Given the description of an element on the screen output the (x, y) to click on. 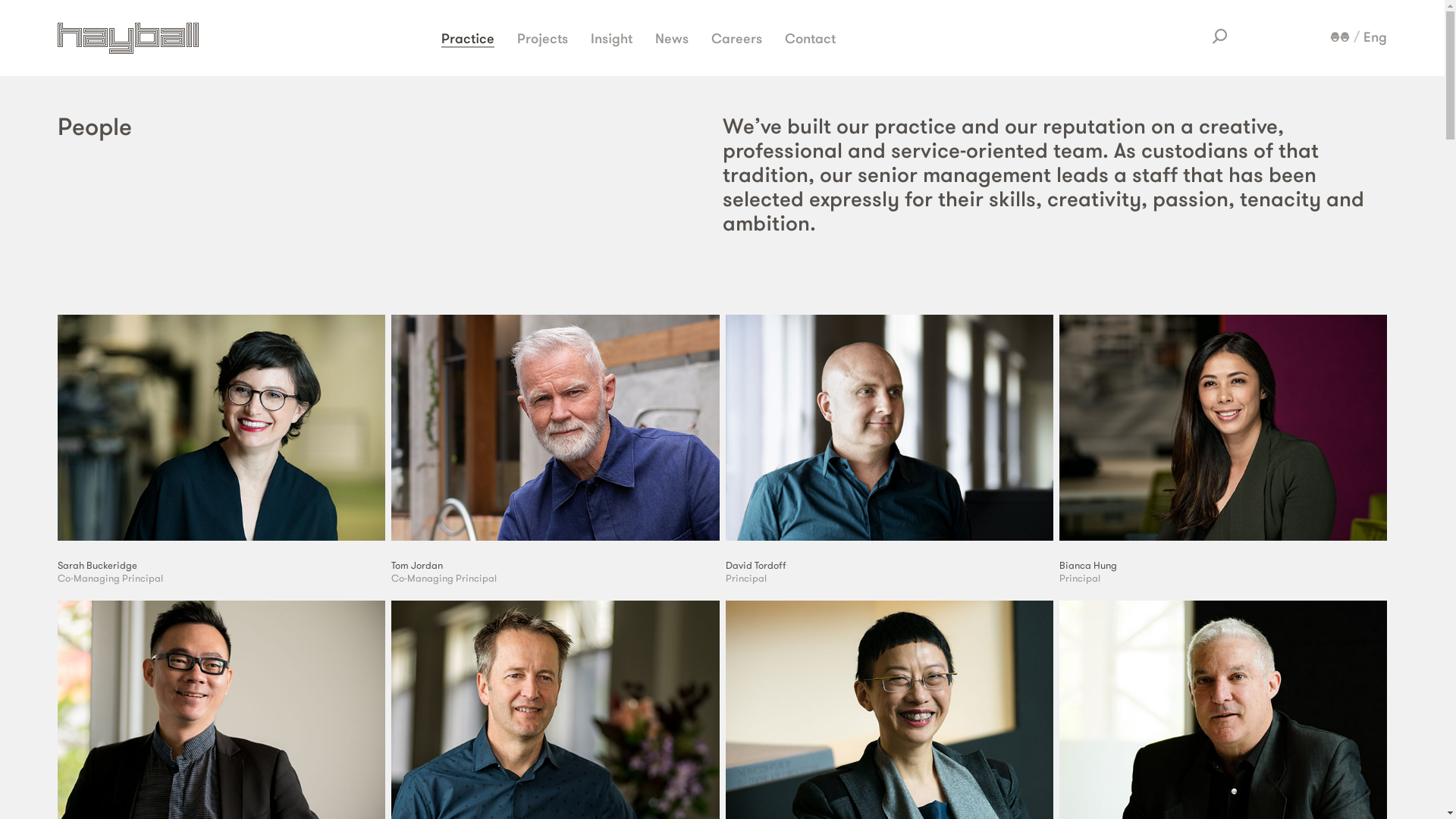
News Element type: text (671, 37)
Projects Element type: text (542, 37)
Contact Element type: text (809, 37)
Eng Element type: text (1374, 36)
Careers Element type: text (736, 37)
Insight Element type: text (611, 37)
Practice Element type: text (467, 37)
